Given the description of an element on the screen output the (x, y) to click on. 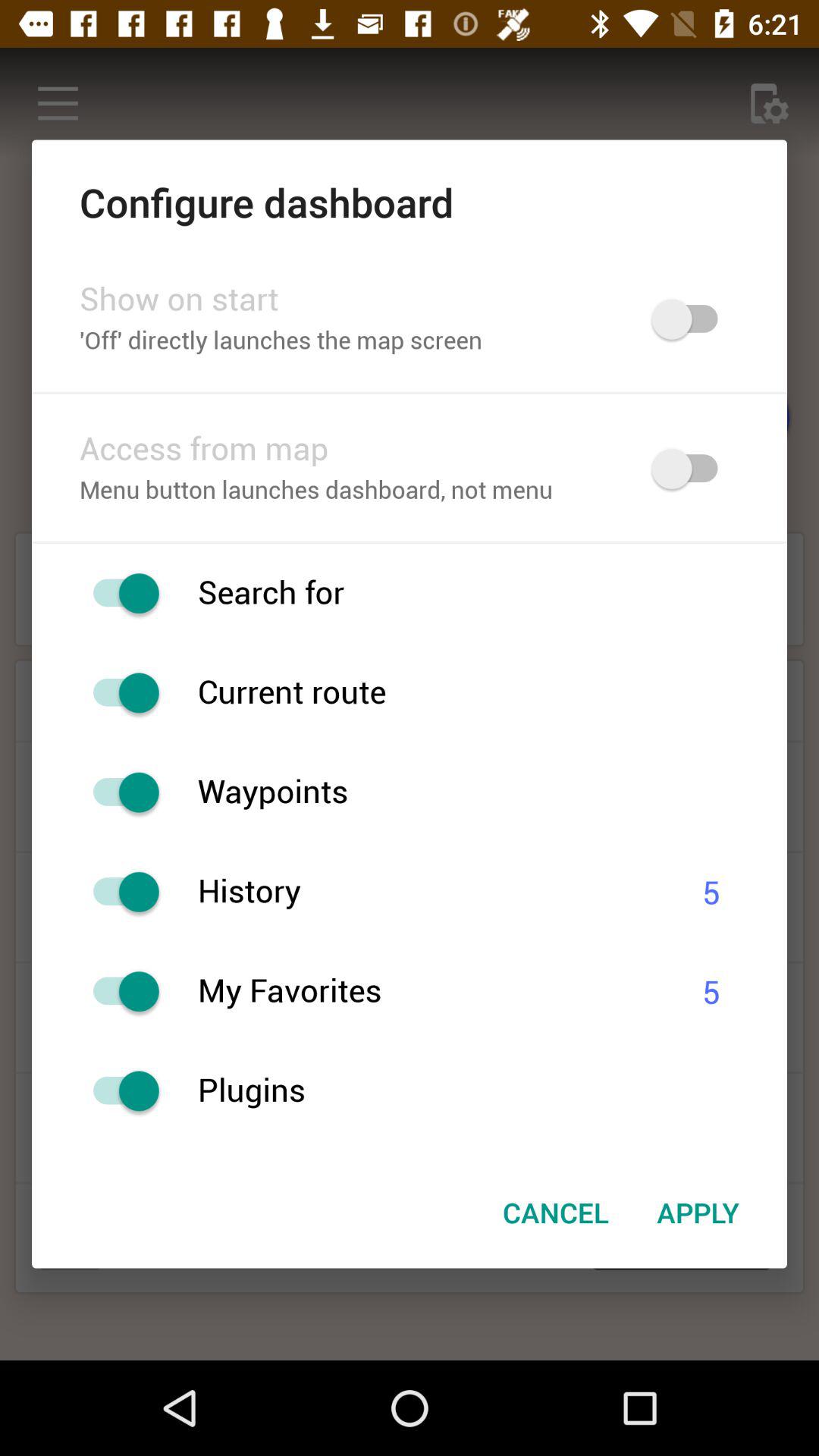
select the icon above the off directly launches item (346, 299)
